Given the description of an element on the screen output the (x, y) to click on. 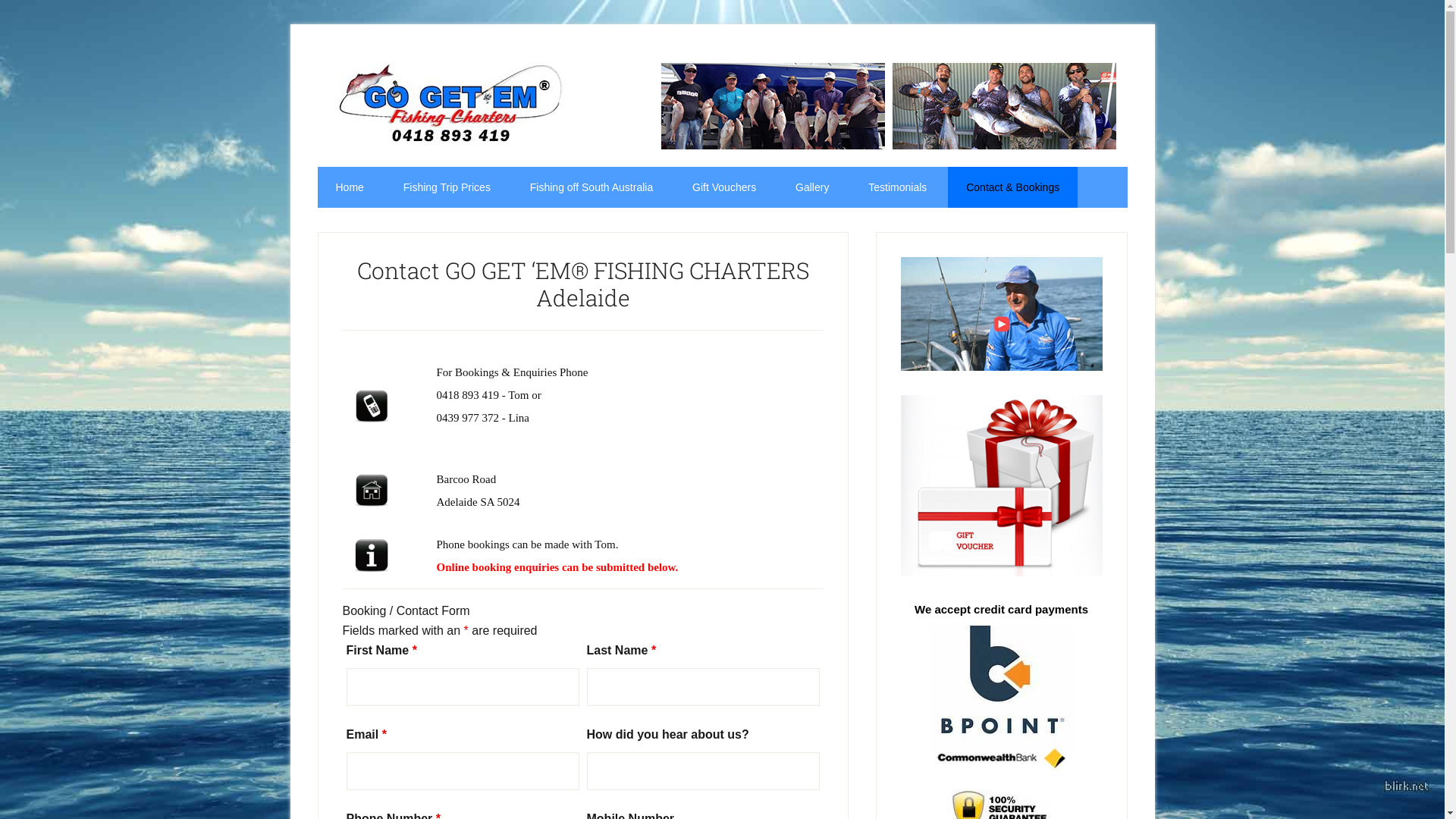
Fishing Charters Booking info Element type: hover (371, 555)
Gift Vouchers Element type: text (724, 186)
Fishing Trip Prices Element type: text (446, 186)
Contact & Bookings Element type: text (1012, 186)
Home Element type: text (348, 186)
mobile phone Go Get 'Em Fishing Charters Adelaide Element type: hover (371, 406)
Gallery Element type: text (812, 186)
address for Go Get 'Em Fishing Charters Adelaide Element type: hover (371, 490)
Fishing Trips Adelaide Fishing Charters Element type: text (450, 104)
Testimonials Element type: text (897, 186)
Fishing off South Australia Element type: text (591, 186)
